Given the description of an element on the screen output the (x, y) to click on. 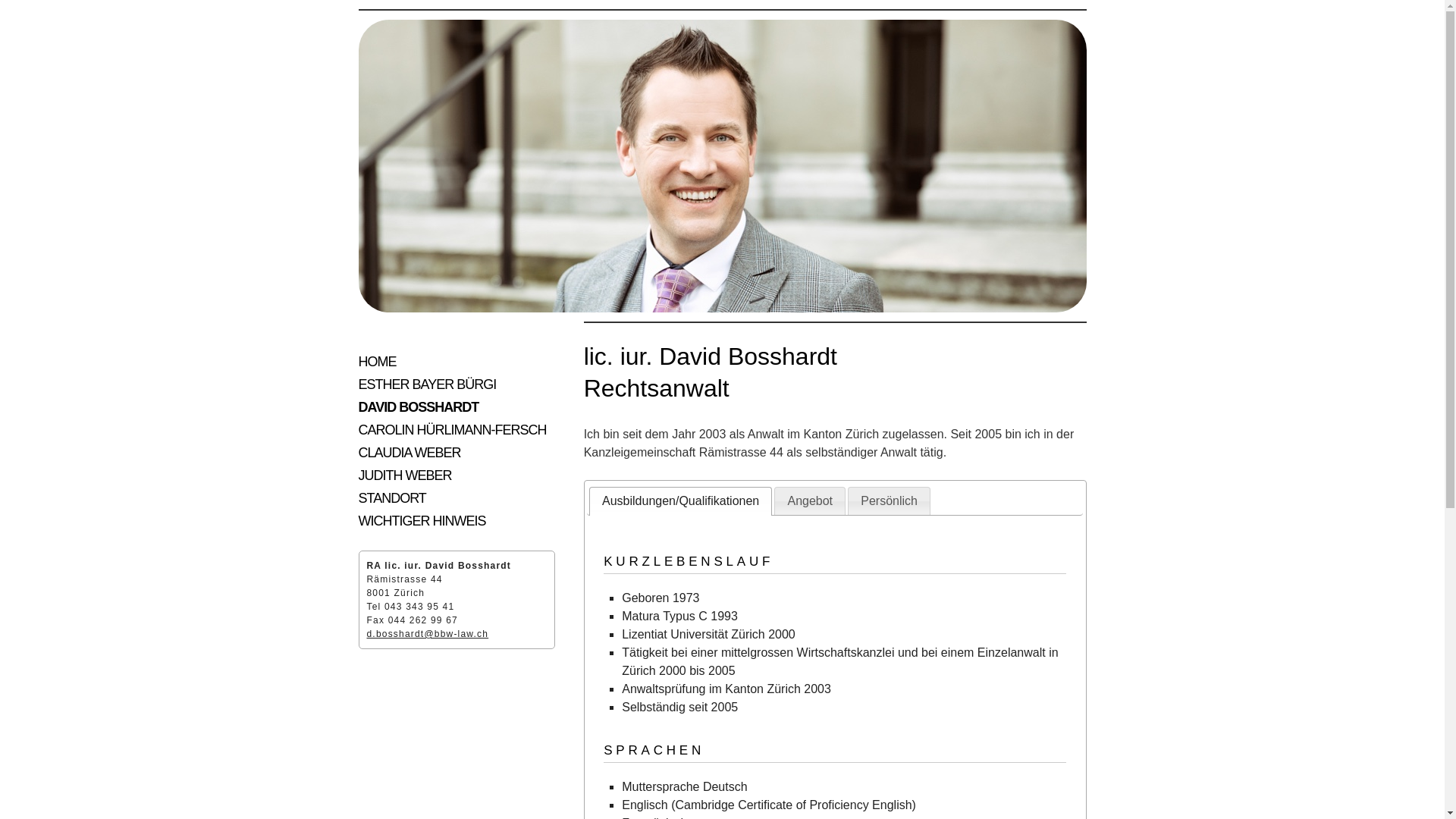
JUDITH WEBER Element type: text (404, 475)
WICHTIGER HINWEIS Element type: text (421, 520)
DAVID BOSSHARDT Element type: text (417, 406)
Angebot Element type: text (809, 501)
david-bosshardt.jpg Element type: hover (721, 165)
Ausbildungen/Qualifikationen Element type: text (680, 501)
d.bosshardt@bbw-law.ch Element type: text (428, 633)
STANDORT Element type: text (391, 497)
HOME Element type: text (376, 361)
CLAUDIA WEBER Element type: text (408, 452)
